Given the description of an element on the screen output the (x, y) to click on. 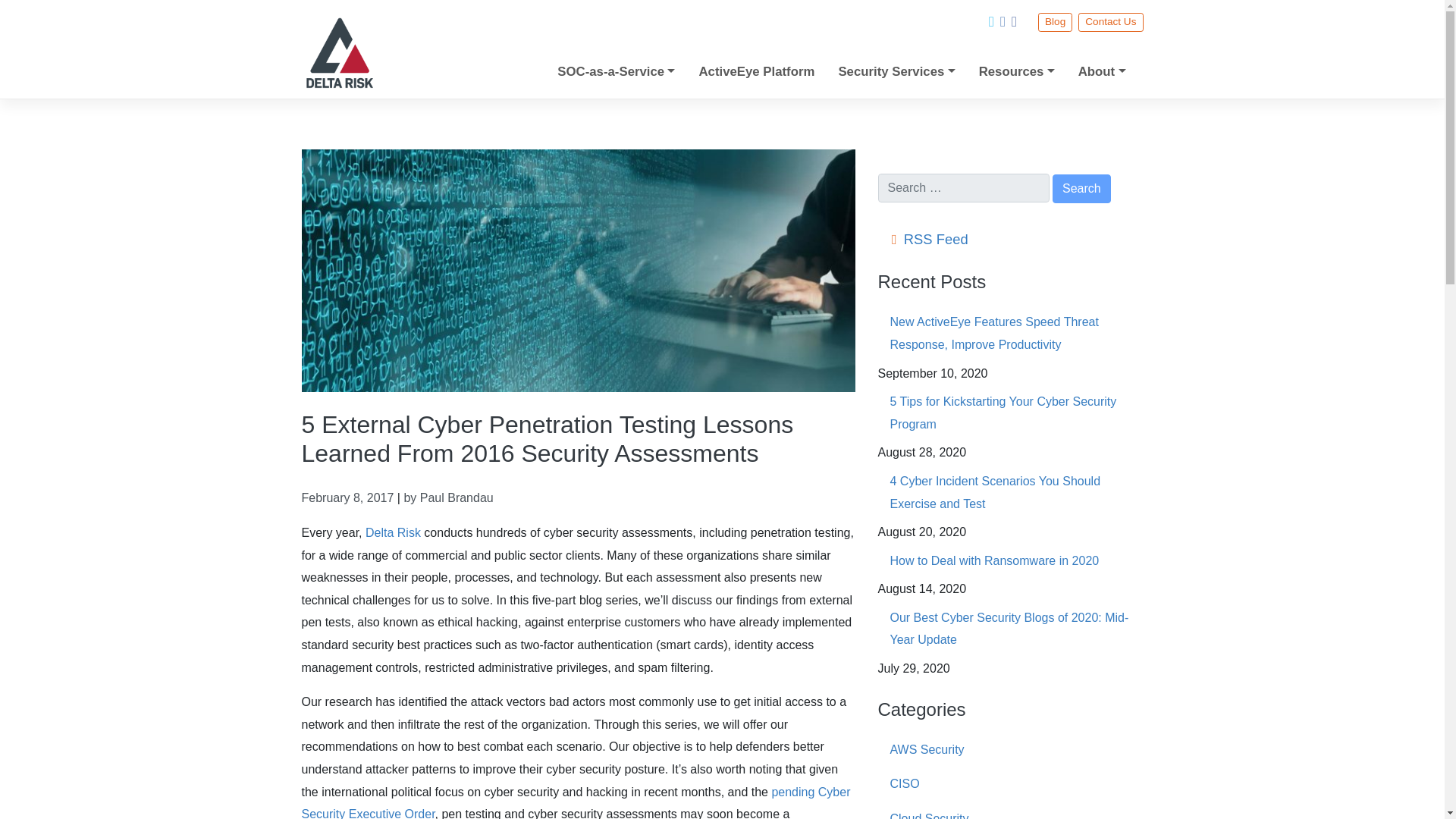
ActiveEye Platform (757, 71)
SOC-as-a-Service (616, 71)
Blog (1054, 22)
Security Services (895, 71)
About (1101, 71)
Search (1081, 188)
Delta Risk (392, 532)
ActiveEye Platform (757, 71)
SOC-as-a-Service (616, 71)
Contact Us (1110, 22)
